Given the description of an element on the screen output the (x, y) to click on. 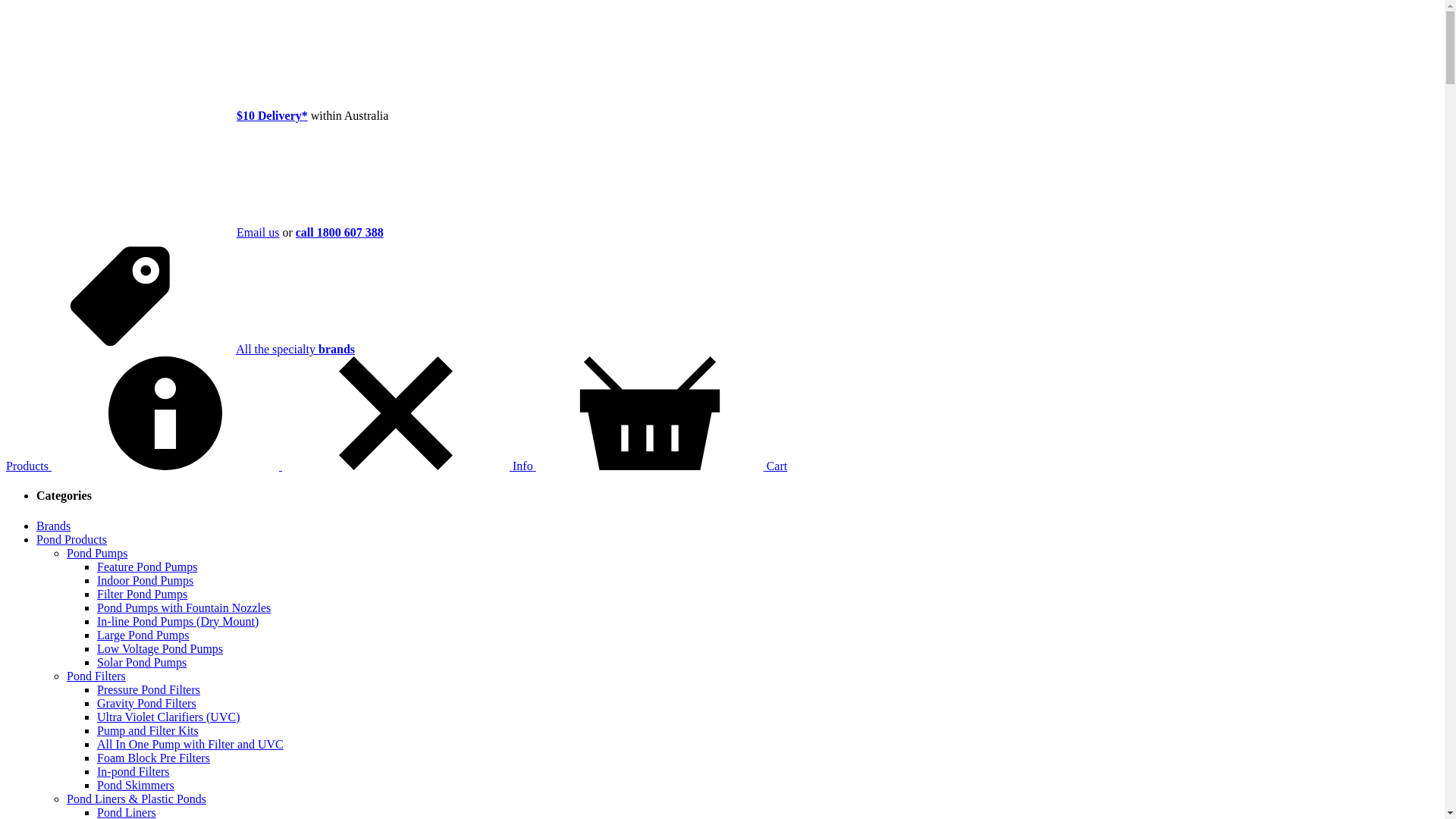
Pump and Filter Kits Element type: text (147, 730)
Pond Products Element type: text (71, 539)
Pond Skimmers Element type: text (135, 784)
Pond Liners & Plastic Ponds Element type: text (136, 798)
$10 Delivery* Element type: text (271, 115)
Filter Pond Pumps Element type: text (142, 593)
Indoor Pond Pumps Element type: text (145, 580)
Low Voltage Pond Pumps Element type: text (159, 648)
Foam Block Pre Filters Element type: text (153, 757)
Solar Pond Pumps Element type: text (141, 661)
Cart Element type: text (661, 465)
Pressure Pond Filters Element type: text (148, 689)
Gravity Pond Filters Element type: text (146, 702)
In-pond Filters Element type: text (133, 771)
Pond Pumps with Fountain Nozzles Element type: text (183, 607)
Ultra Violet Clarifiers (UVC) Element type: text (168, 716)
Products Element type: text (28, 465)
In-line Pond Pumps (Dry Mount) Element type: text (177, 621)
call 1800 607 388 Element type: text (339, 231)
Feature Pond Pumps Element type: text (147, 566)
Email us Element type: text (257, 231)
All In One Pump with Filter and UVC Element type: text (190, 743)
Pond Filters Element type: text (95, 675)
All the specialty brands Element type: text (294, 348)
Large Pond Pumps Element type: text (142, 634)
Info Element type: text (293, 465)
Brands Element type: text (53, 525)
Pond Pumps Element type: text (96, 552)
